Given the description of an element on the screen output the (x, y) to click on. 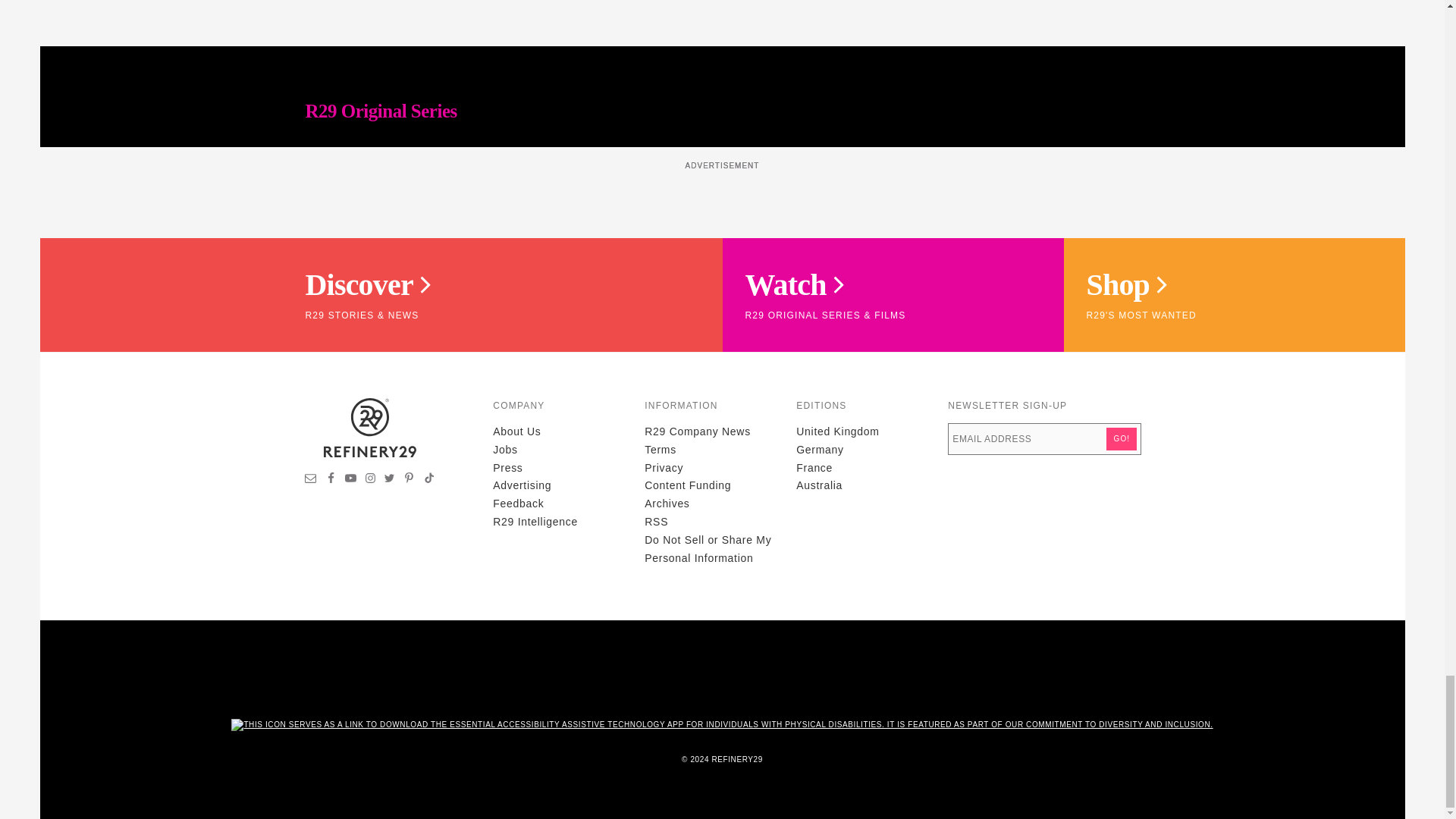
Visit Refinery29 on TikTok (428, 480)
Sign up for newsletters (310, 480)
Visit Refinery29 on YouTube (350, 480)
